Given the description of an element on the screen output the (x, y) to click on. 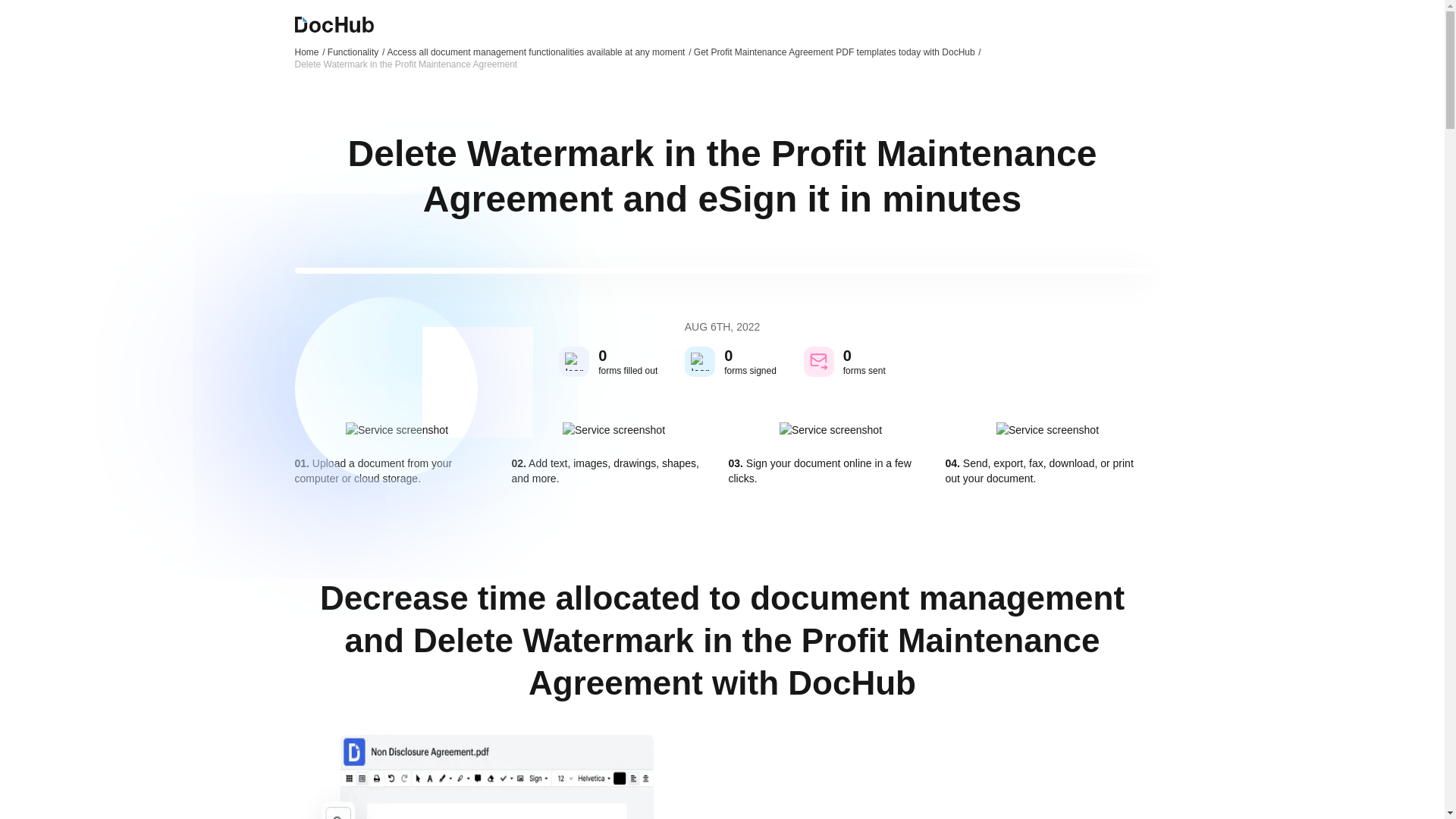
Home (309, 51)
Functionality (355, 51)
